Given the description of an element on the screen output the (x, y) to click on. 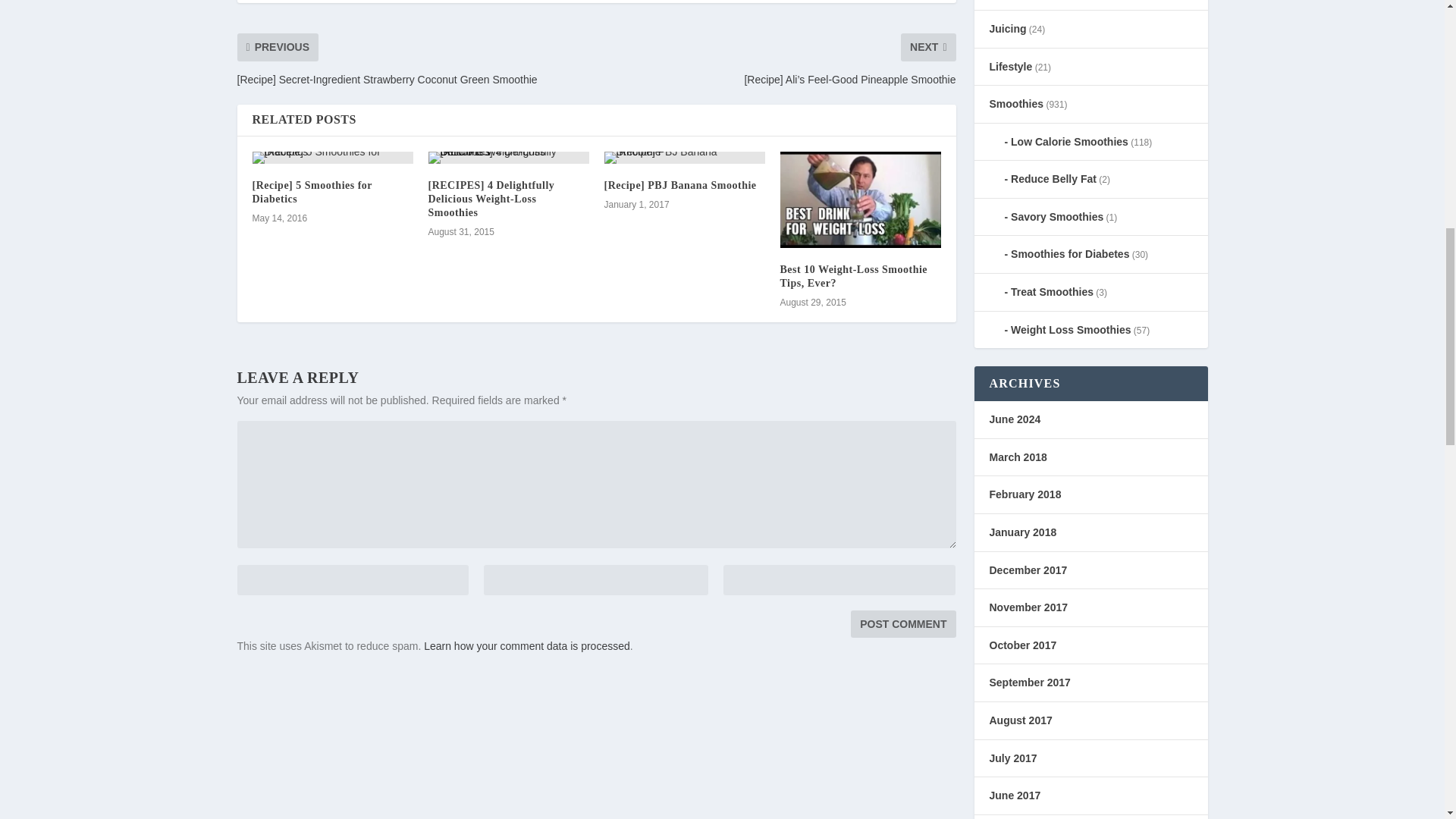
Post Comment (902, 624)
